Given the description of an element on the screen output the (x, y) to click on. 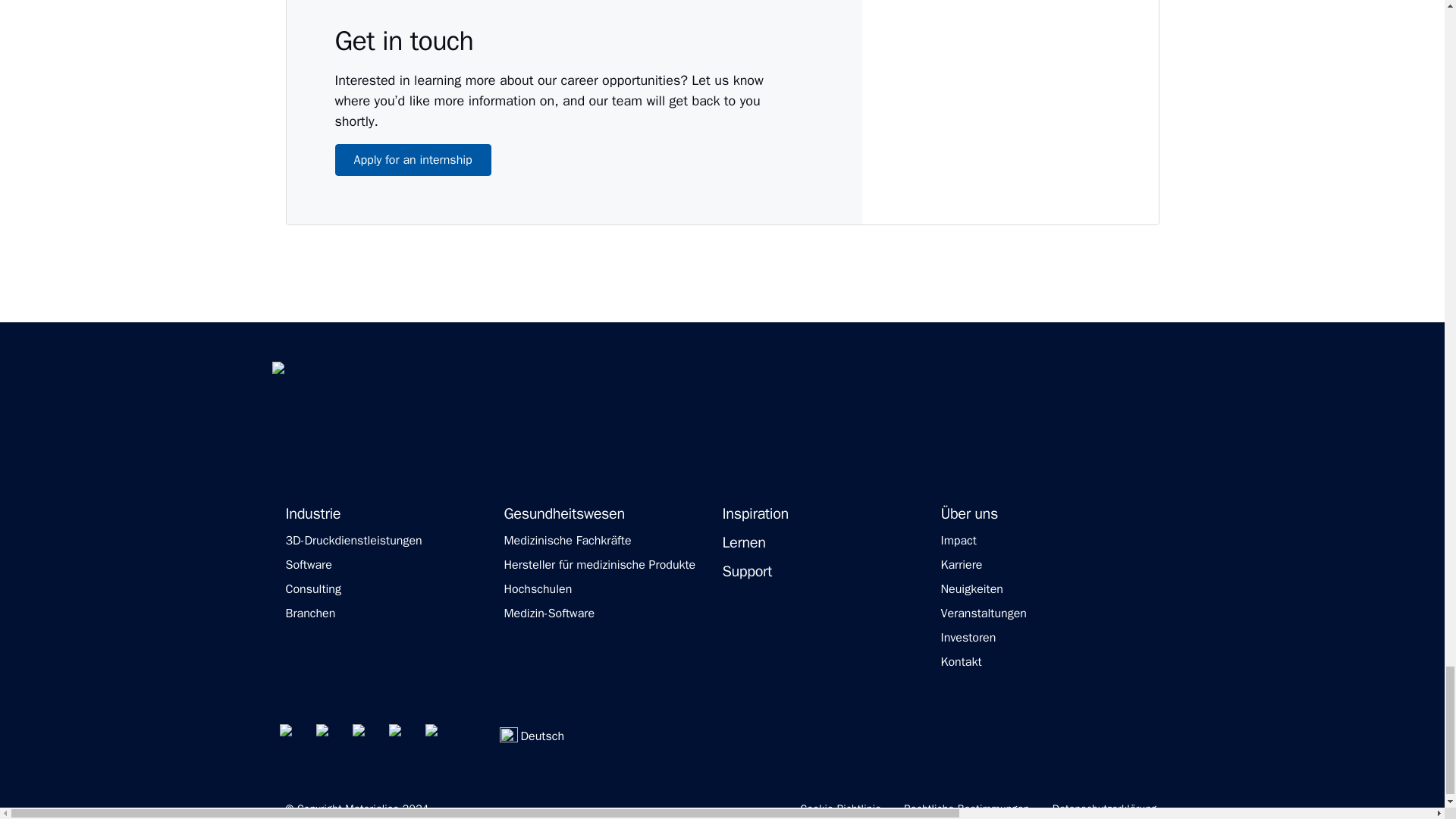
Gesundheitswesen (563, 514)
Karriere (960, 564)
Inspiration (754, 514)
Lernen (743, 543)
Software (308, 564)
Apply for an internship (413, 160)
Neuigkeiten (971, 589)
Impact (957, 540)
Branchen (309, 613)
Consulting (312, 589)
